Given the description of an element on the screen output the (x, y) to click on. 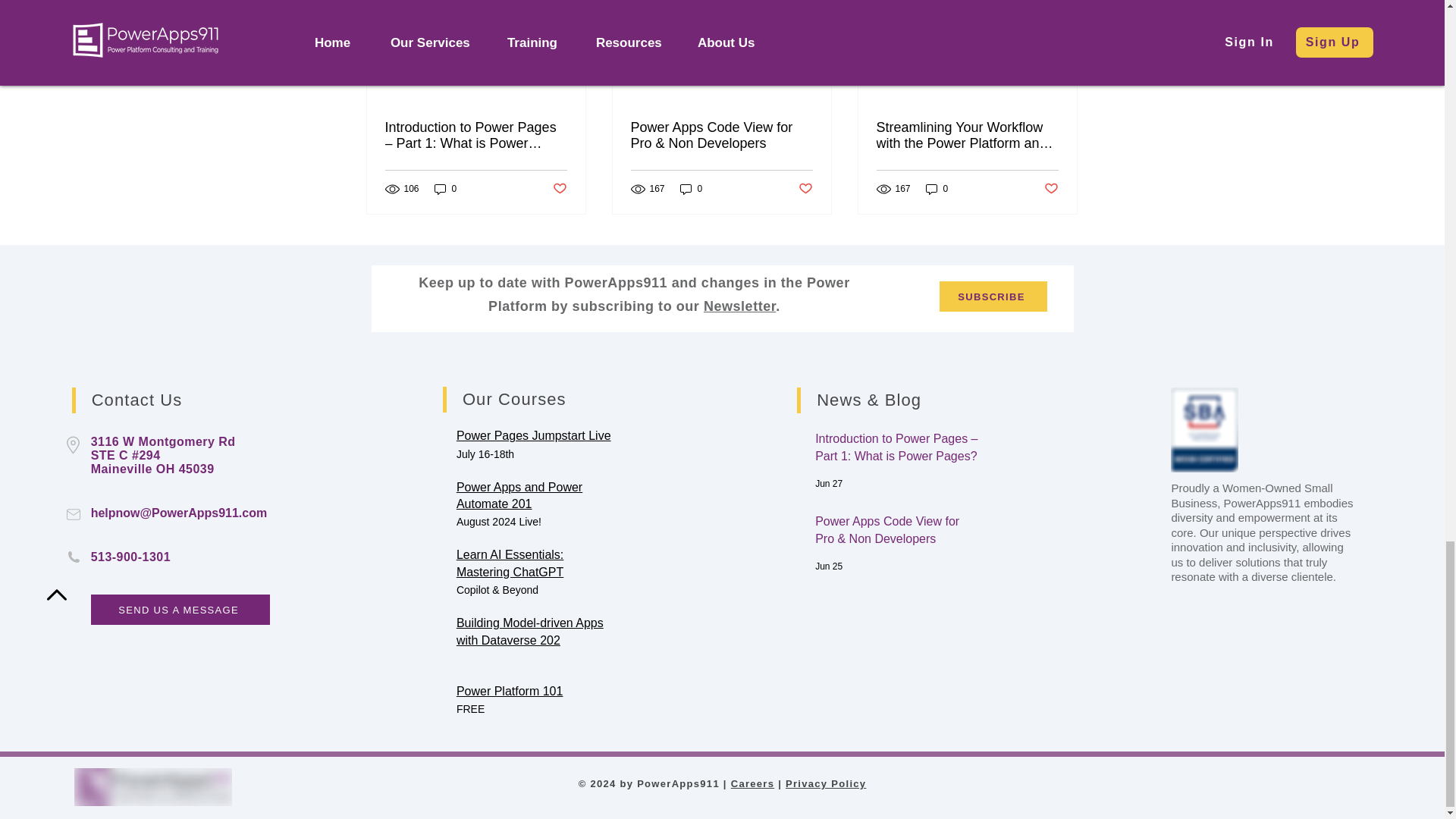
Post not marked as liked (558, 188)
Jun 27 (829, 483)
0 (445, 188)
Jun 25 (829, 566)
